Given the description of an element on the screen output the (x, y) to click on. 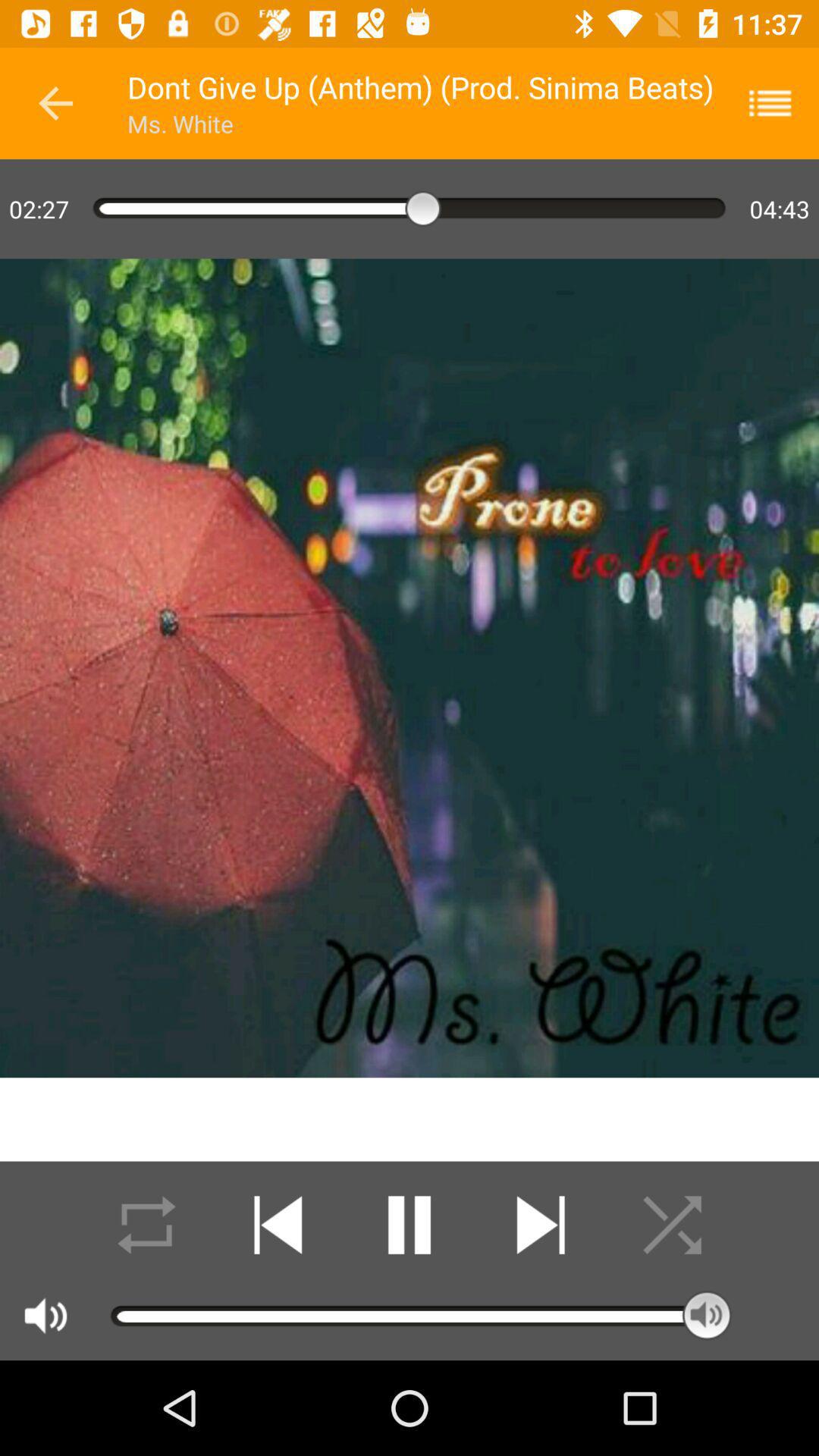
deselect image (672, 1224)
